Given the description of an element on the screen output the (x, y) to click on. 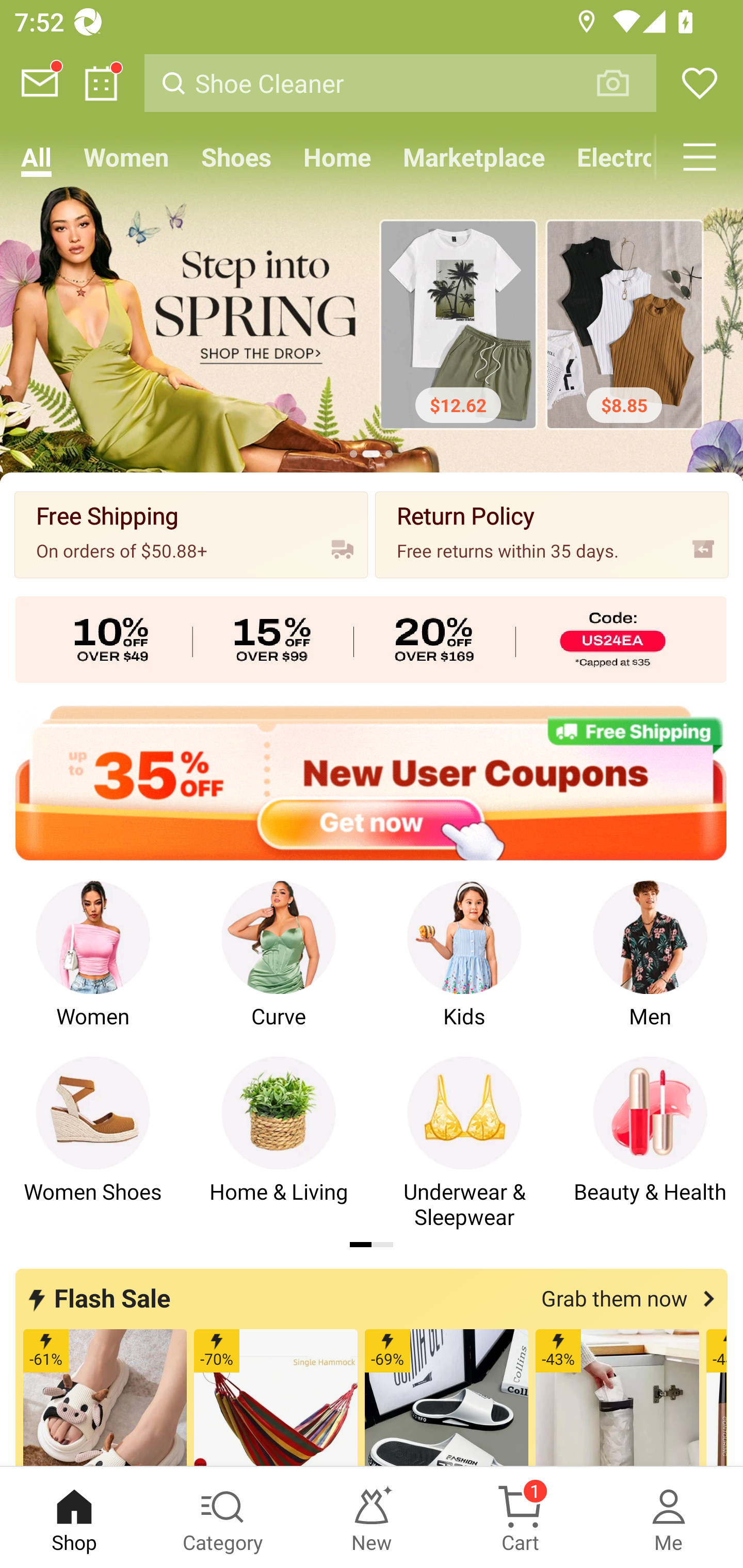
Wishlist (699, 82)
VISUAL SEARCH (623, 82)
All (36, 156)
Women (126, 156)
Shoes (236, 156)
Home (337, 156)
Marketplace (473, 156)
Electronics (608, 156)
$12.62 $8.85 (371, 327)
Free Shipping On orders of $50.88+ (190, 534)
Return Policy Free returns within 35 days. (551, 534)
Women (92, 968)
Curve (278, 968)
Kids (464, 968)
Men (650, 968)
Women Shoes (92, 1142)
Home & Living (278, 1142)
Underwear & Sleepwear (464, 1142)
Beauty & Health (650, 1142)
Category (222, 1517)
New (371, 1517)
Cart 1 Cart (519, 1517)
Me (668, 1517)
